Given the description of an element on the screen output the (x, y) to click on. 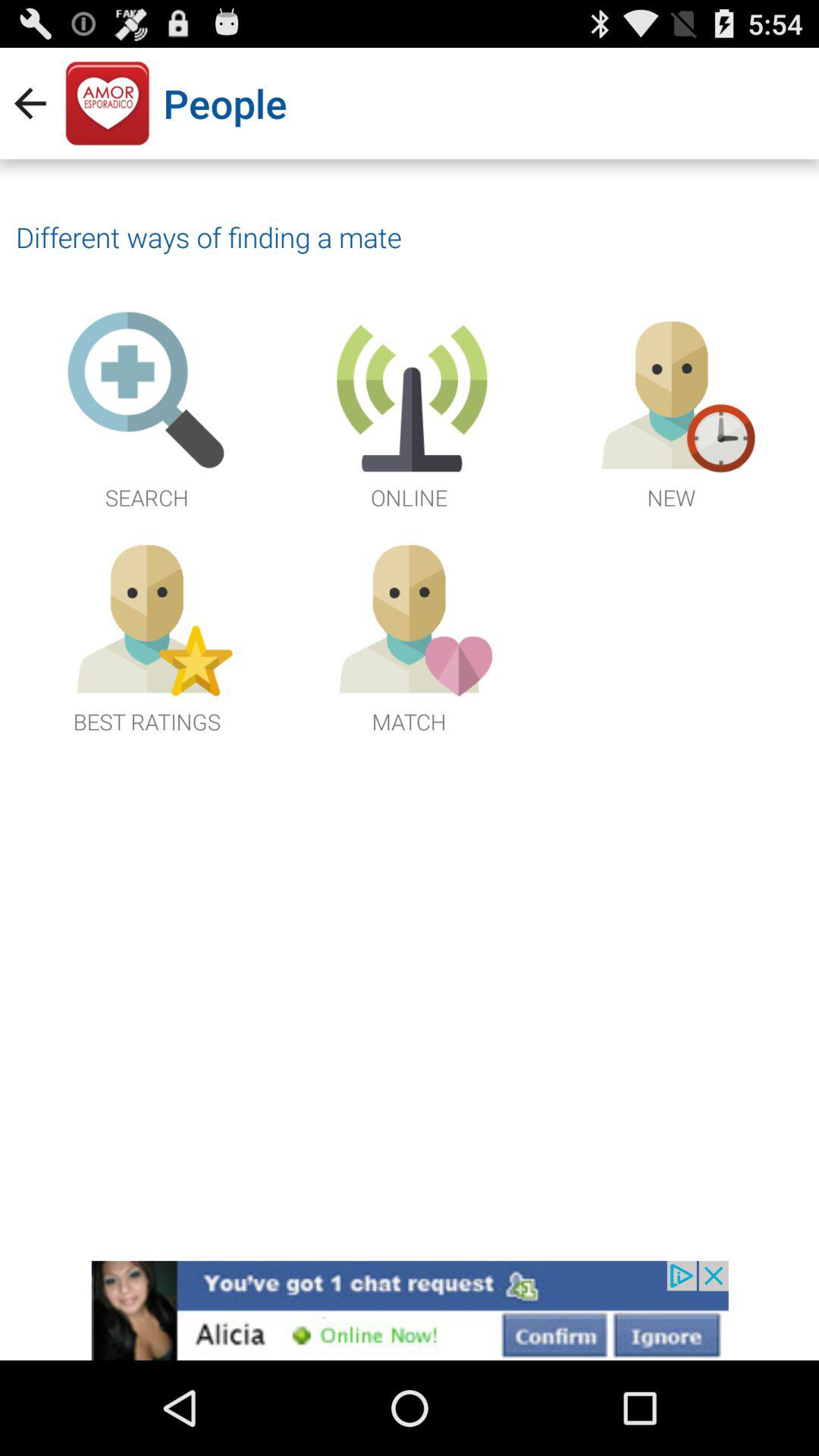
connect to advertisement (409, 1310)
